Given the description of an element on the screen output the (x, y) to click on. 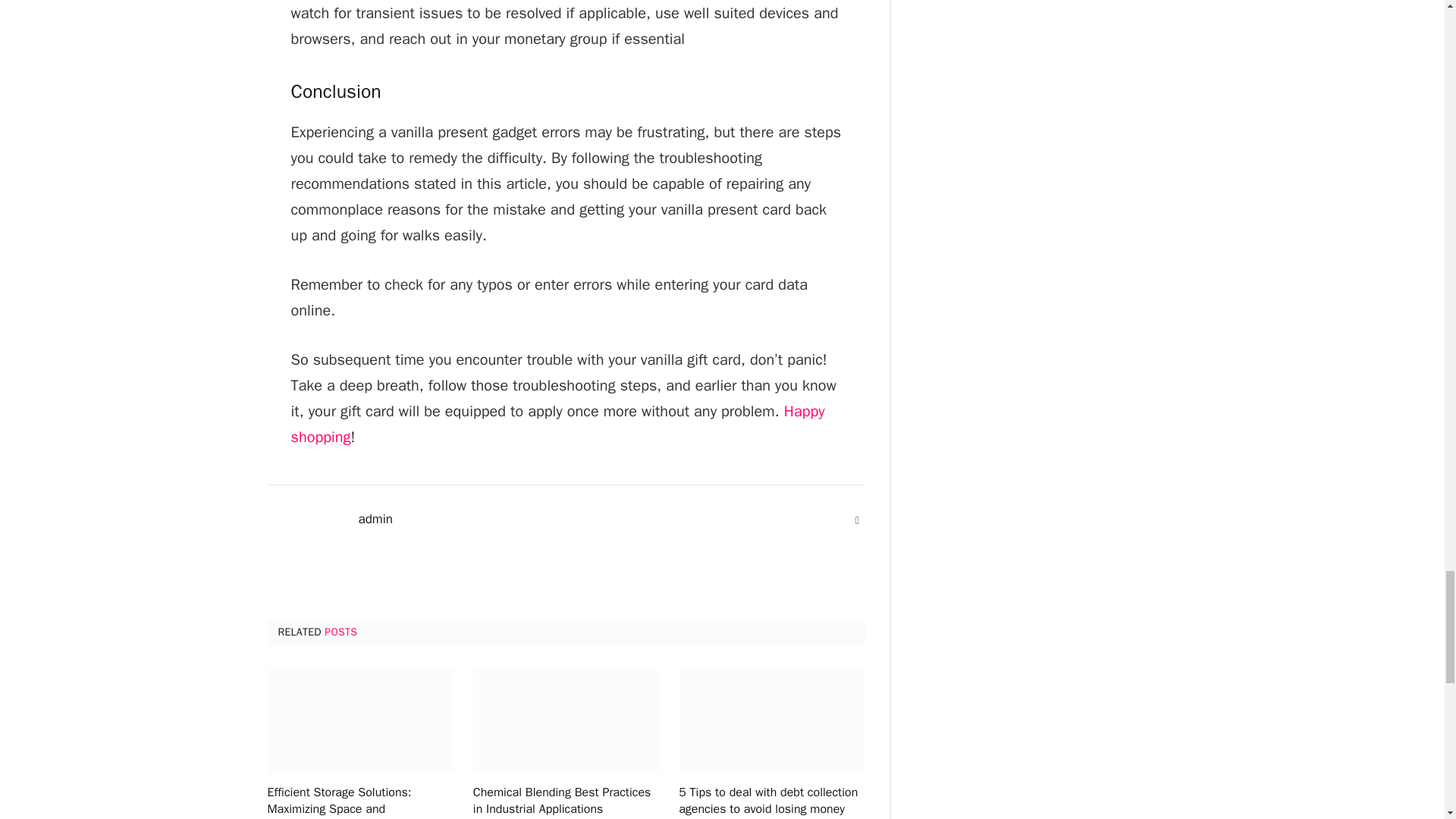
Website (856, 520)
Chemical Blending Best Practices in Industrial Applications (566, 801)
Website (856, 520)
Happy shopping (558, 424)
admin (375, 519)
Chemical Blending Best Practices in Industrial Applications (566, 720)
Posts by admin (375, 519)
